Given the description of an element on the screen output the (x, y) to click on. 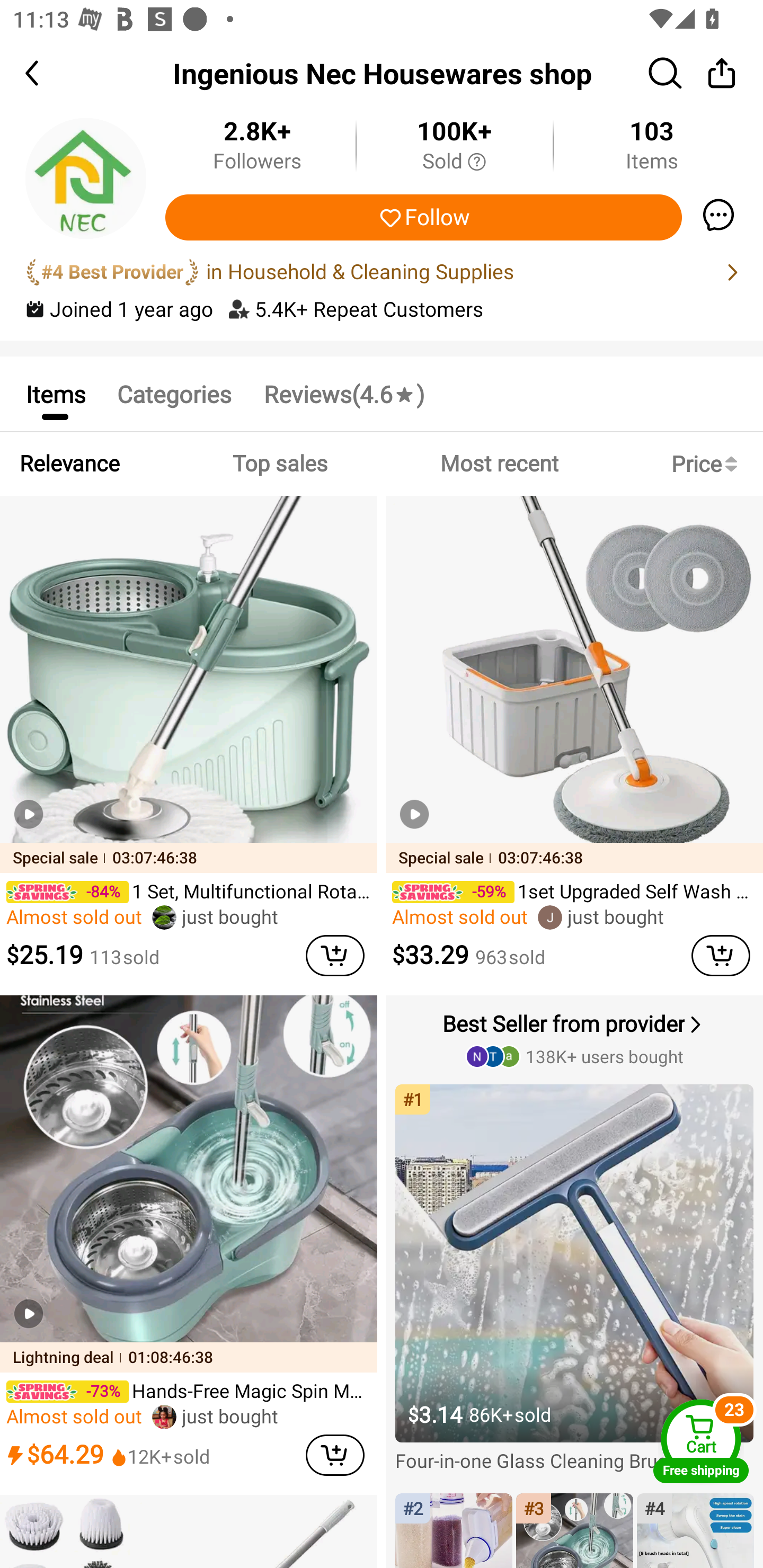
back (47, 72)
share (721, 72)
Sold (453, 161)
#4 Best Provider in Household & Cleaning Supplies (381, 272)
Items (55, 393)
Categories (174, 393)
Reviews(4.6 ) (343, 393)
Relevance (69, 463)
Top sales (279, 463)
Most recent (498, 463)
Price (707, 463)
cart delete (334, 955)
cart delete (720, 955)
Best Seller from provider 138K+ users bought (576, 1037)
Cart Free shipping Cart (701, 1440)
cart delete (334, 1454)
#2 (453, 1530)
#3 (574, 1530)
#4 (695, 1530)
